Given the description of an element on the screen output the (x, y) to click on. 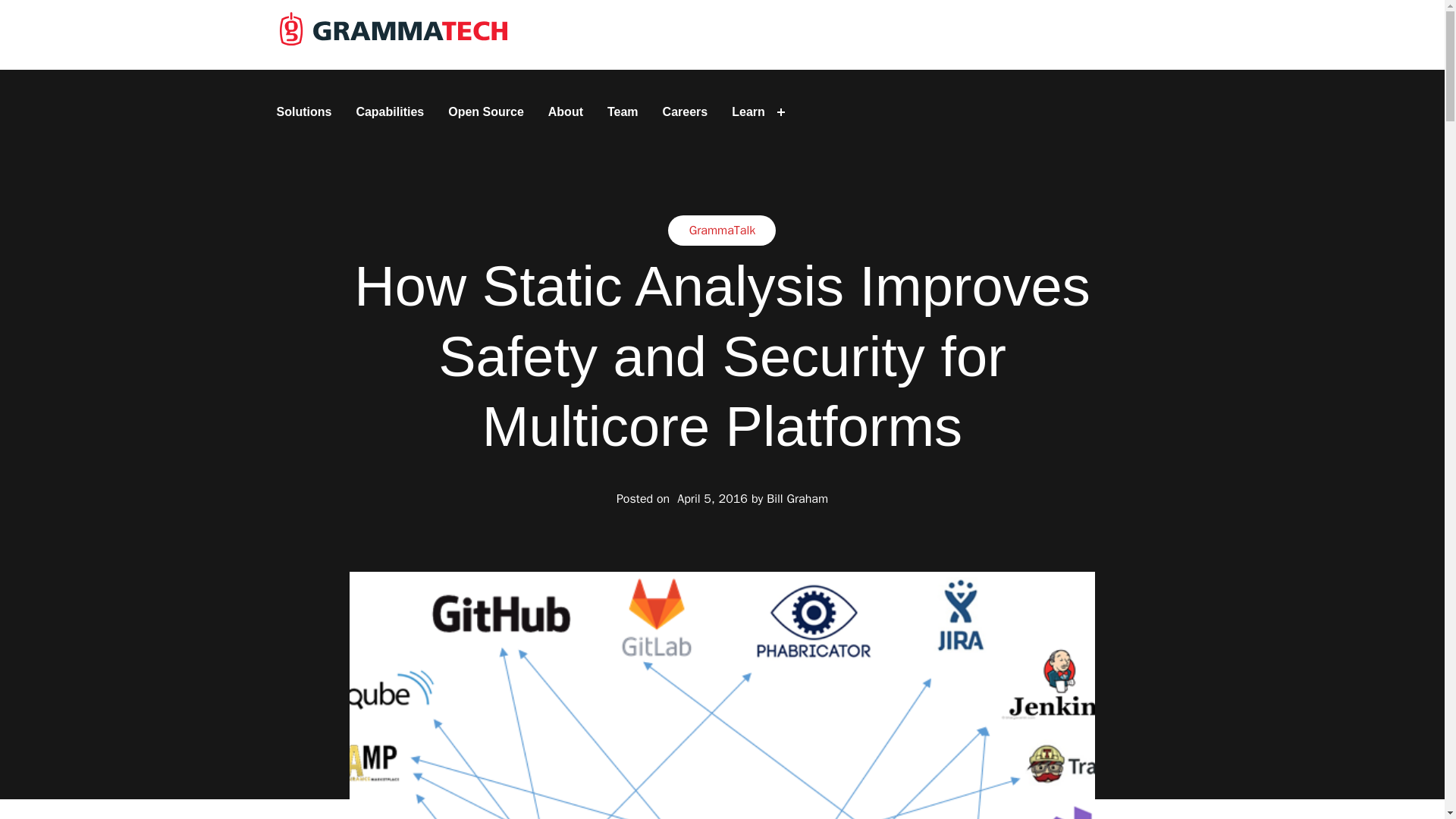
Team (622, 112)
About (565, 112)
Learn (748, 112)
Careers (685, 112)
Capabilities (389, 112)
Open Source (485, 112)
CONTACT US (1108, 34)
Solutions (303, 112)
